Given the description of an element on the screen output the (x, y) to click on. 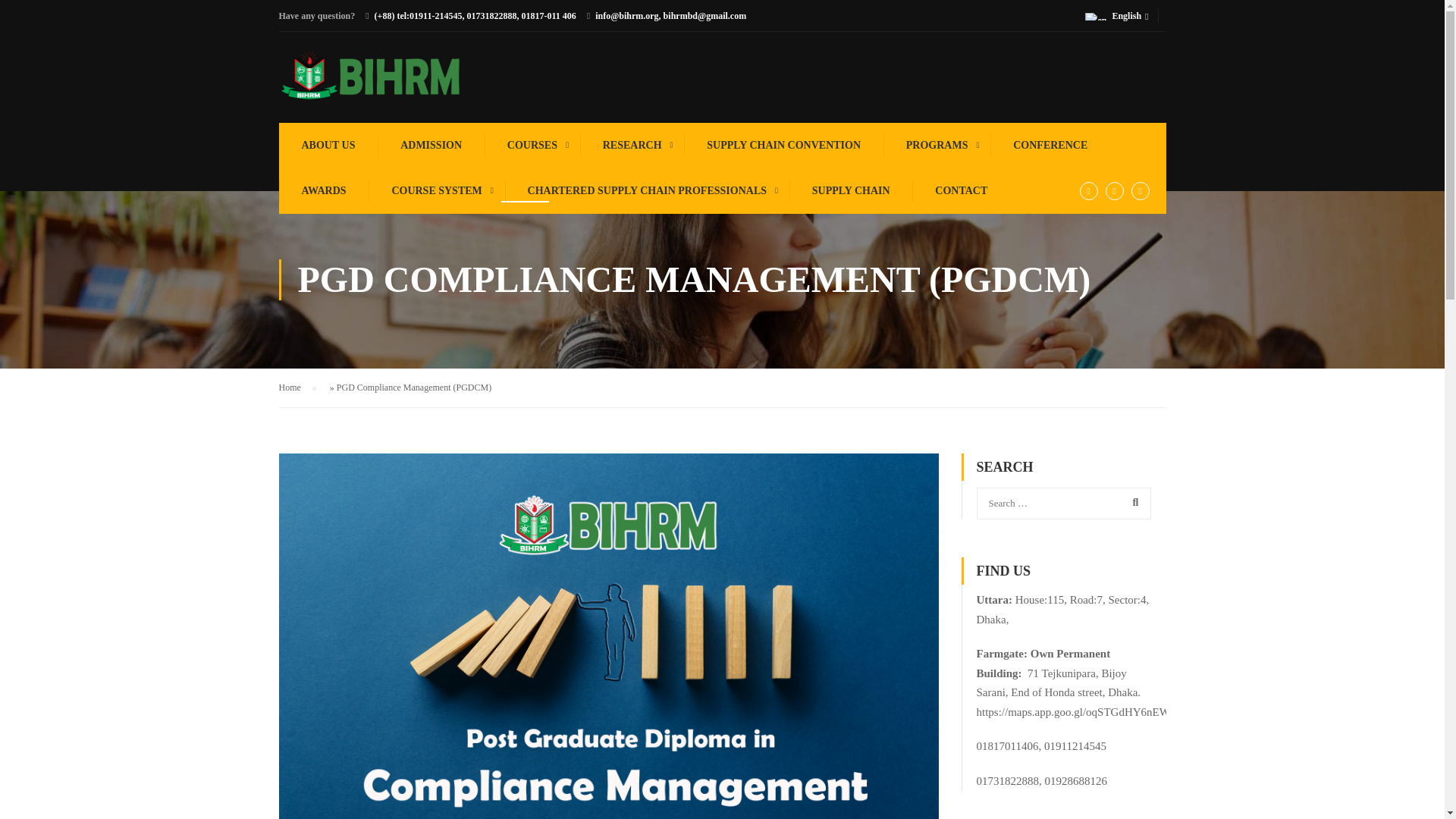
ADMISSION (429, 145)
ABOUT US (327, 145)
English (1120, 15)
COURSES (530, 145)
Search (1132, 502)
Search (1132, 502)
